Given the description of an element on the screen output the (x, y) to click on. 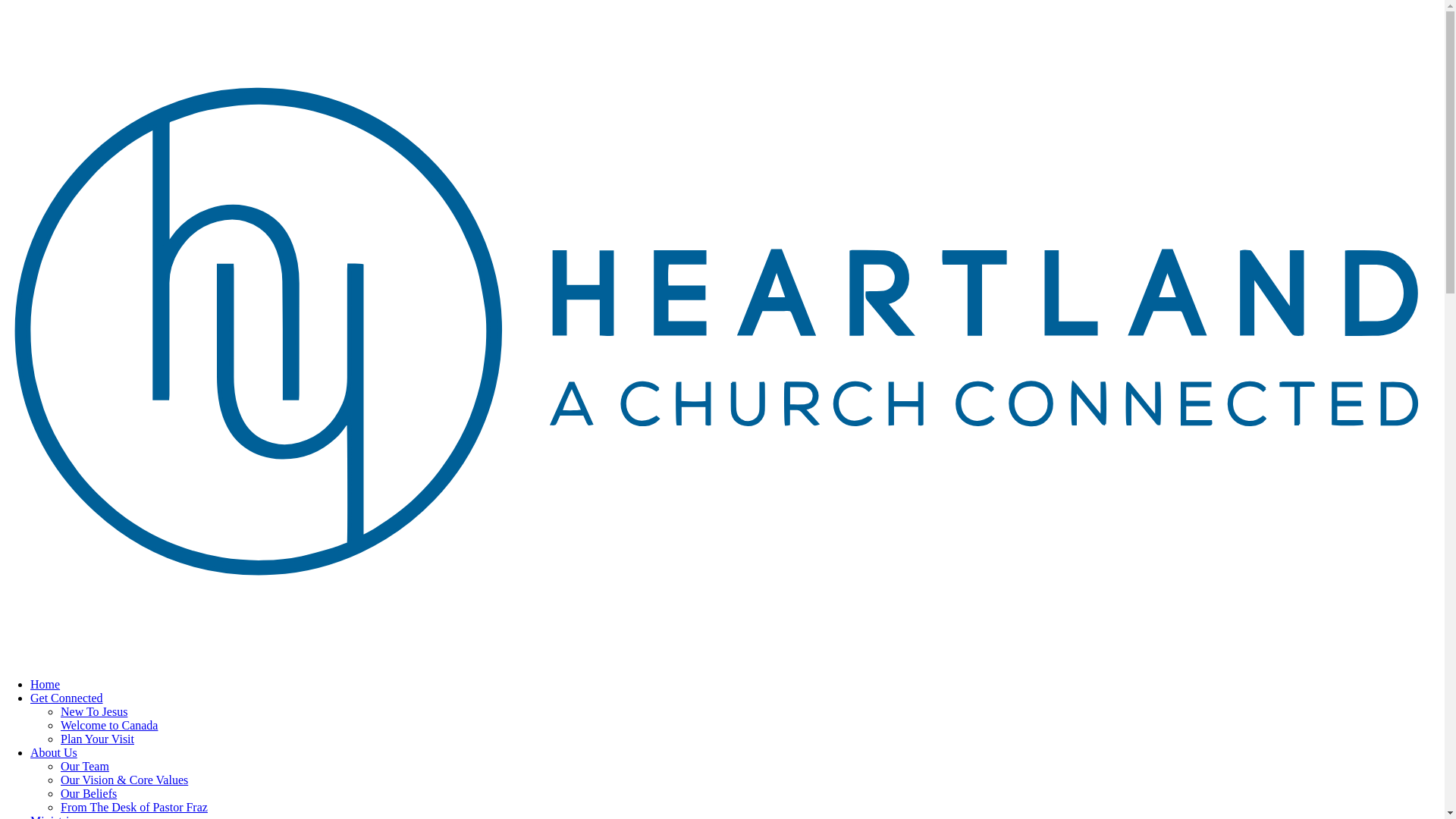
From The Desk of Pastor Fraz Element type: text (133, 806)
Home Element type: text (44, 683)
About Us Element type: text (53, 752)
New To Jesus Element type: text (93, 711)
Our Team Element type: text (84, 765)
Welcome to Canada Element type: text (108, 724)
Our Beliefs Element type: text (88, 793)
Plan Your Visit Element type: text (97, 738)
Our Vision & Core Values Element type: text (124, 779)
Get Connected Element type: text (66, 697)
